Given the description of an element on the screen output the (x, y) to click on. 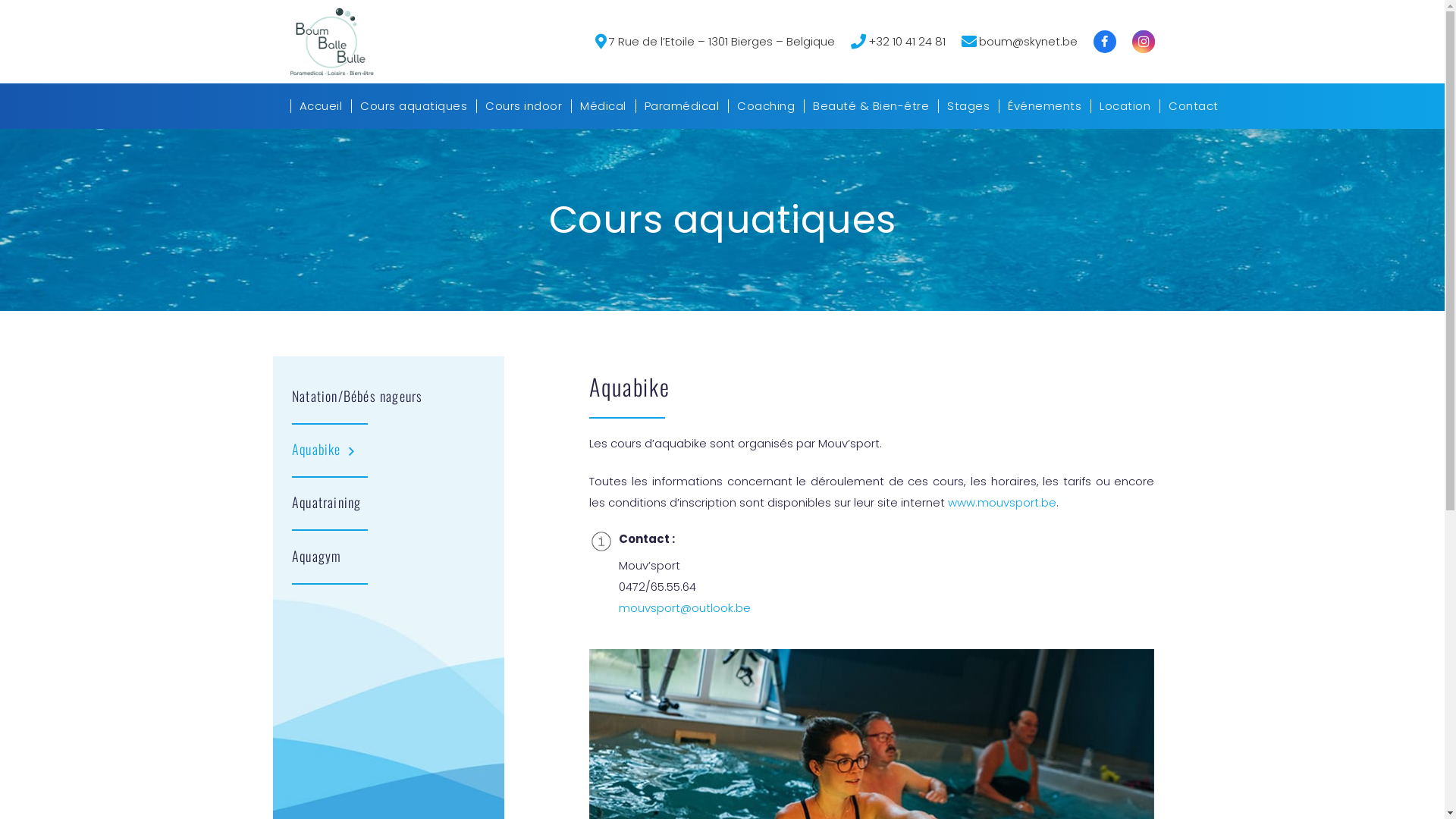
Coaching Element type: text (765, 106)
Titre Element type: hover (1104, 41)
Aquagym Element type: text (316, 555)
Contact Element type: text (1193, 106)
www.mouvsport.be Element type: text (1001, 502)
Cours aquatiques Element type: text (413, 106)
Stages Element type: text (968, 106)
mouvsport@outlook.be Element type: text (684, 607)
Location Element type: text (1124, 106)
Accueil Element type: text (320, 106)
Cours indoor Element type: text (523, 106)
Instagram Element type: hover (1142, 41)
Aquabike Element type: text (316, 448)
Aquatraining Element type: text (325, 501)
